Given the description of an element on the screen output the (x, y) to click on. 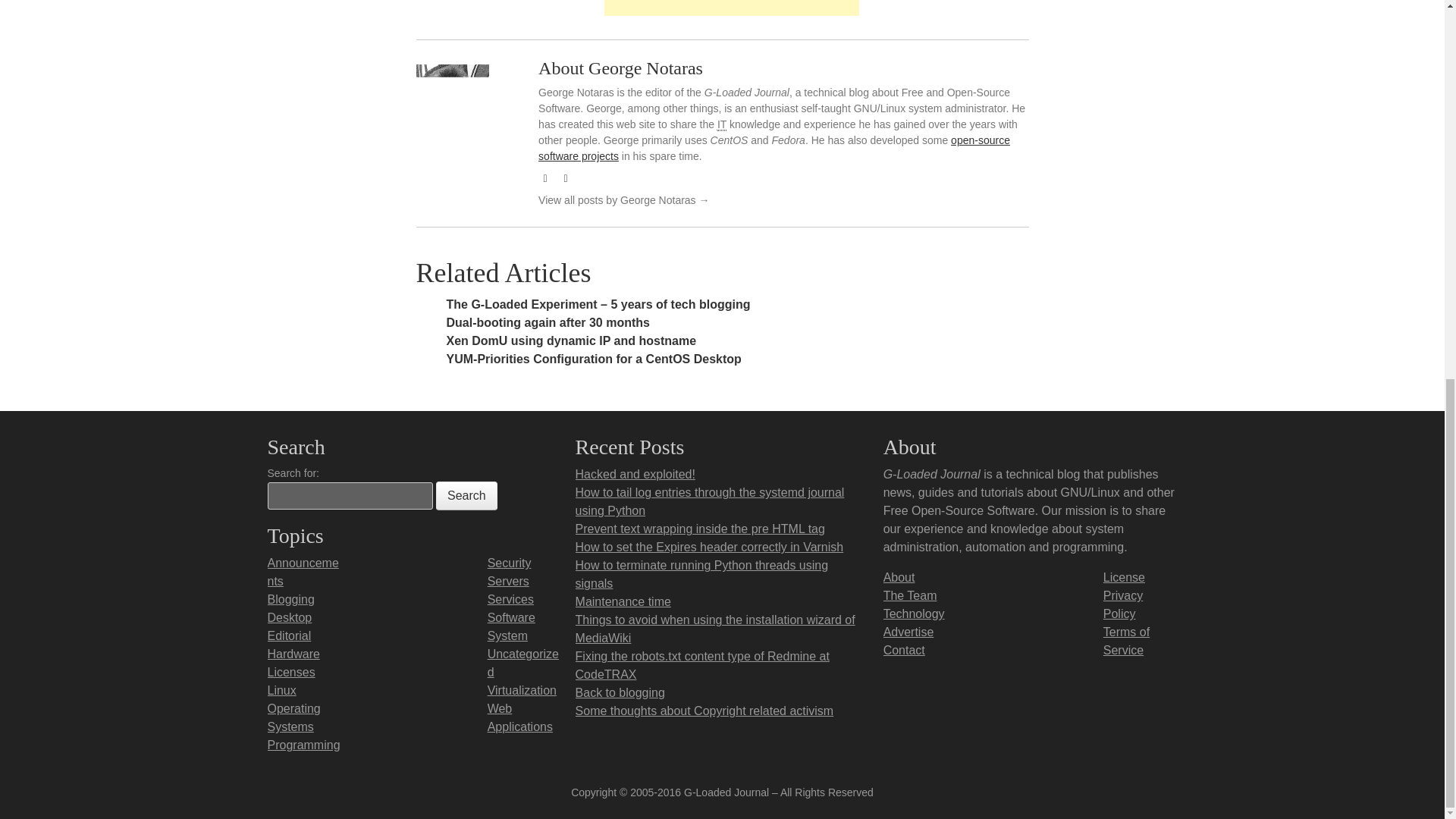
Servers (508, 581)
Operating Systems (293, 717)
Hardware (292, 653)
Dual-booting again after 30 months (547, 322)
Licenses (290, 671)
YUM-Priorities Configuration for a CentOS Desktop (593, 358)
Services (510, 599)
Announcements (301, 572)
Editorial (288, 635)
Search (466, 495)
